Given the description of an element on the screen output the (x, y) to click on. 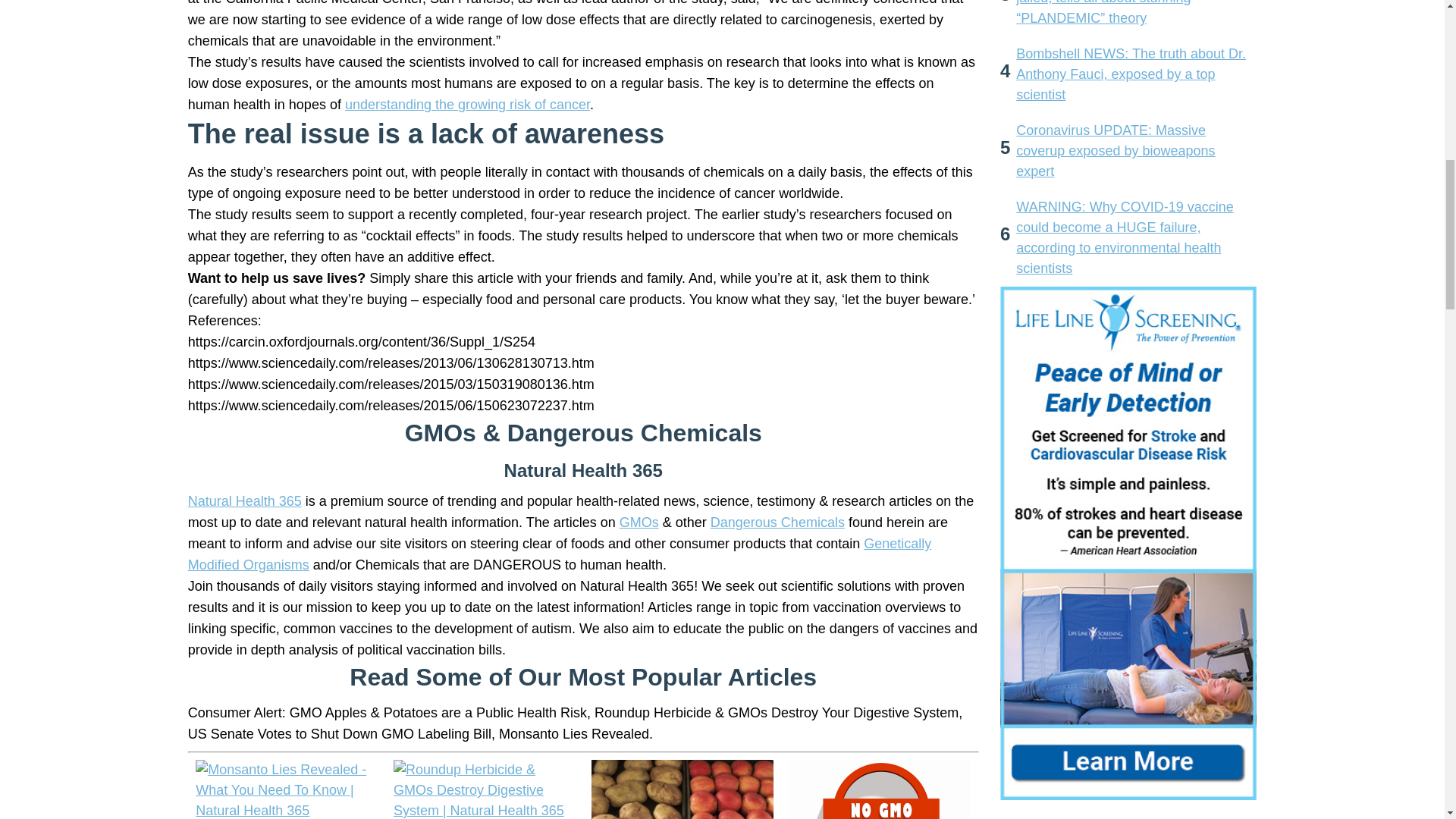
Natural Health 365 (244, 500)
Genetically Modified Organisms (559, 554)
understanding the growing risk of cancer (467, 104)
GMOs (639, 522)
Dangerous Chemicals (777, 522)
